Given the description of an element on the screen output the (x, y) to click on. 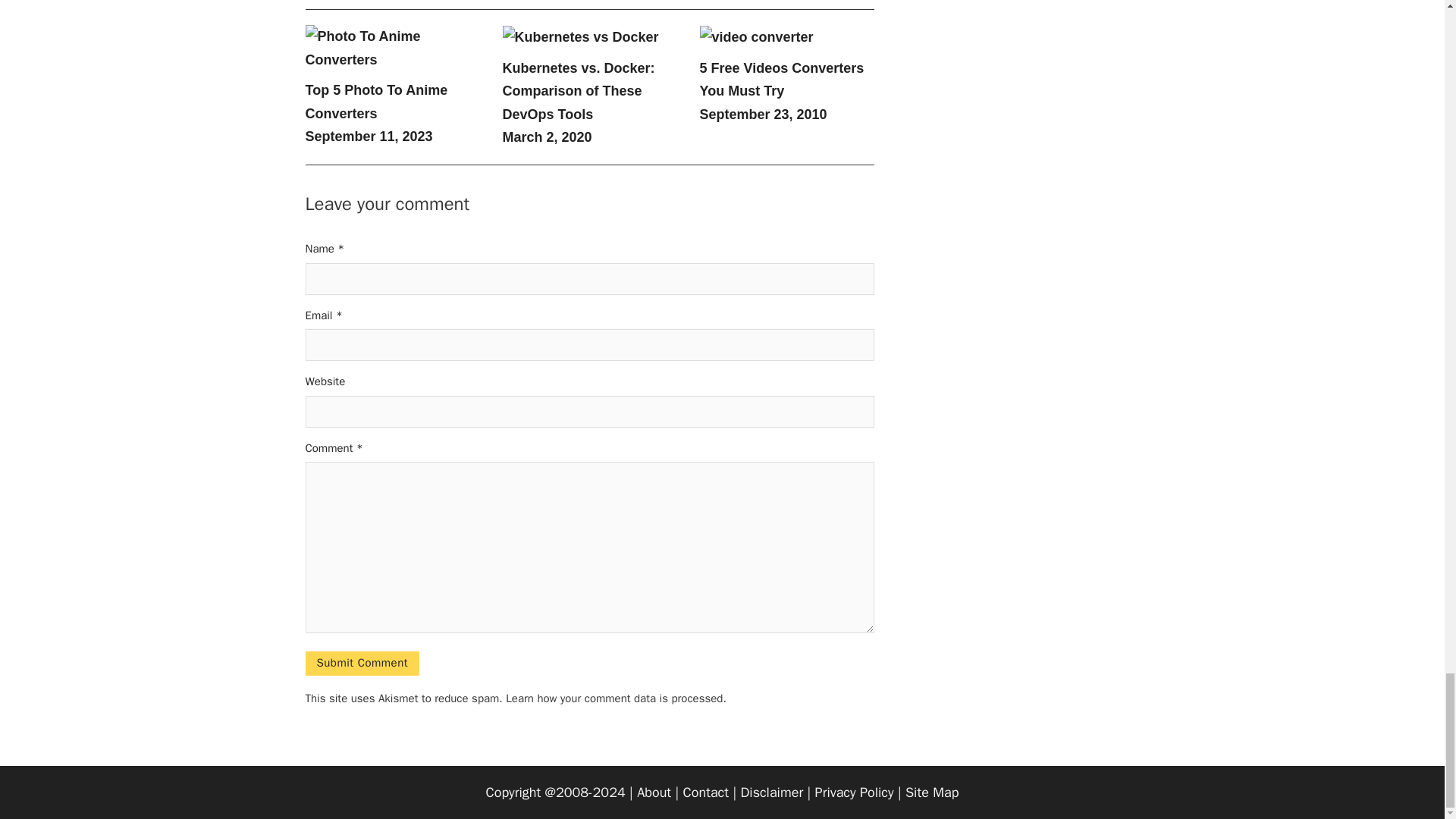
Kubernetes vs. Docker: Comparison of These DevOps Tools (577, 91)
Submit Comment (361, 663)
5 Free Videos Converters You Must Try (780, 79)
Top 5 Photo To Anime Converters (375, 101)
